Given the description of an element on the screen output the (x, y) to click on. 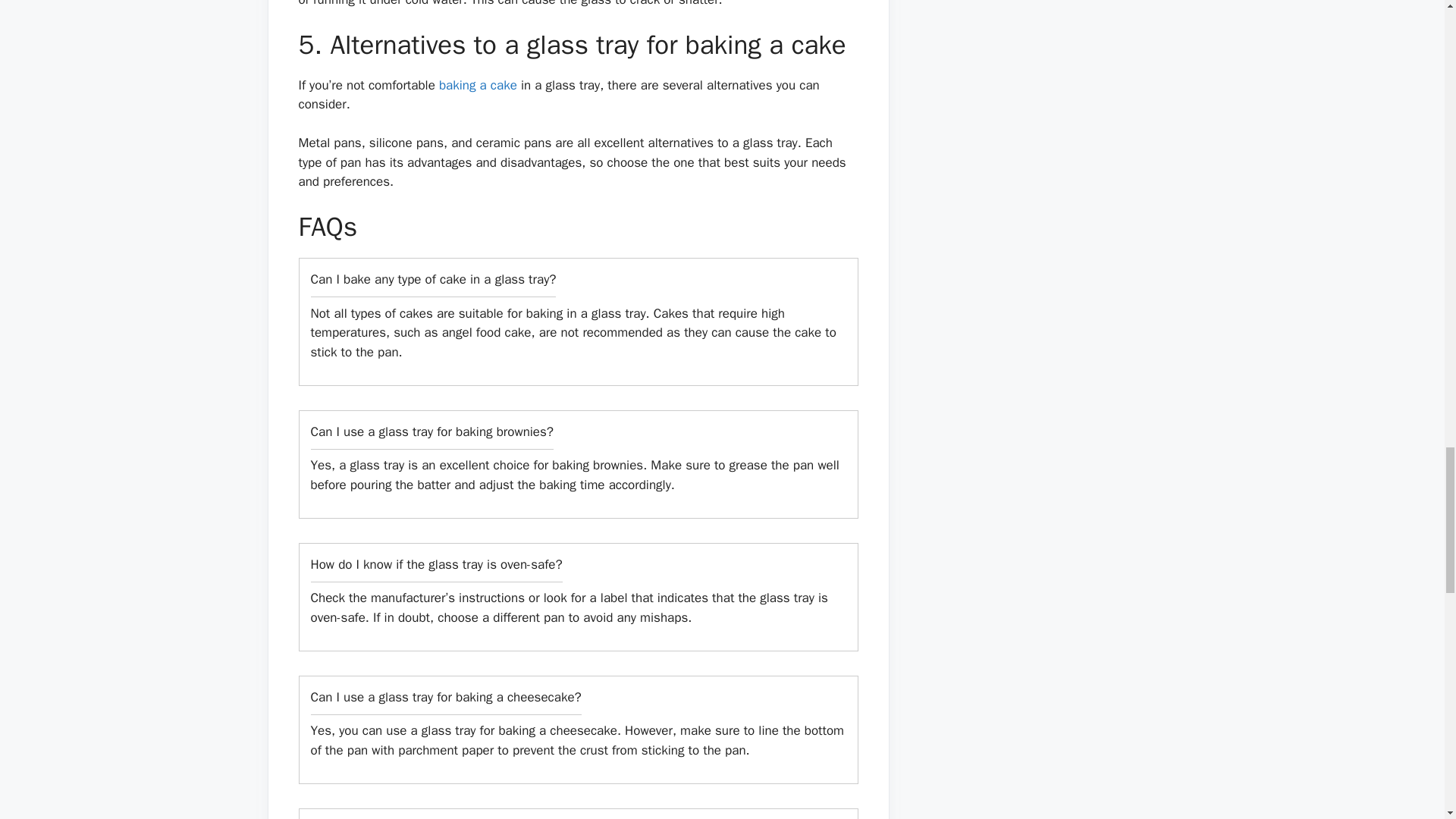
baking a cake (480, 84)
